Given the description of an element on the screen output the (x, y) to click on. 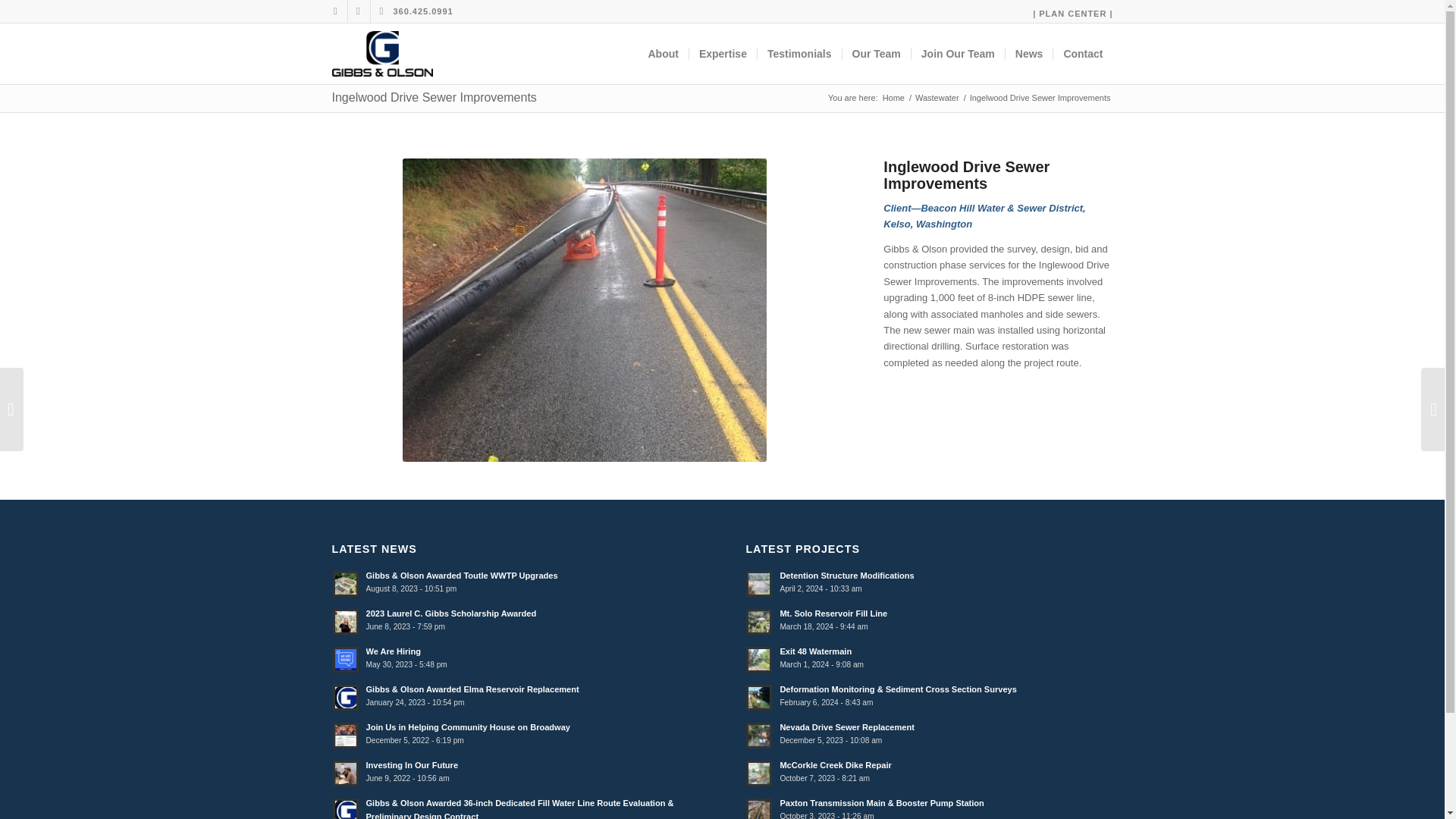
Gibbs and Olson (893, 98)
Mail (381, 11)
Read: We Are Hiring (392, 651)
Our Team (876, 53)
Detention Structure Modifications (846, 574)
Ingelwood Drive Sewer Improvements (434, 97)
2023 Laurel C. Gibbs Scholarship Awarded (450, 613)
Permanent Link: Ingelwood Drive Sewer Improvements (434, 97)
We Are Hiring (392, 651)
Read: We Are Hiring (345, 659)
